Given the description of an element on the screen output the (x, y) to click on. 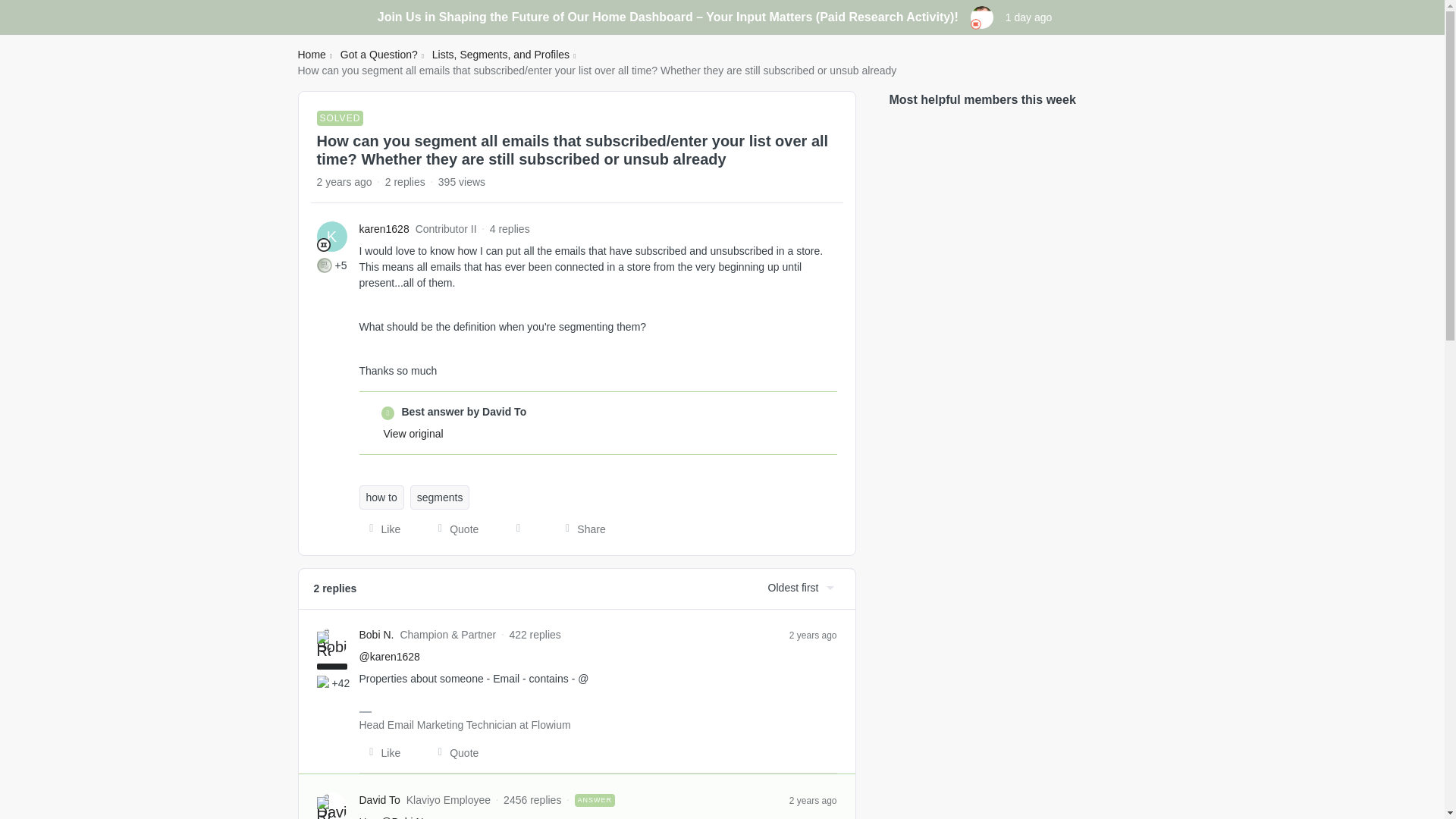
Bobi N. (376, 634)
View original (414, 433)
how to (381, 497)
Lists, Segments, and Profiles (500, 54)
karen1628 (384, 229)
K (332, 236)
Quote (453, 529)
Home (310, 54)
2 years ago (813, 799)
2 replies (405, 182)
2 years ago (813, 634)
Like (380, 752)
Community Manager (976, 23)
segments (440, 497)
Partner - Platinum (323, 644)
